Given the description of an element on the screen output the (x, y) to click on. 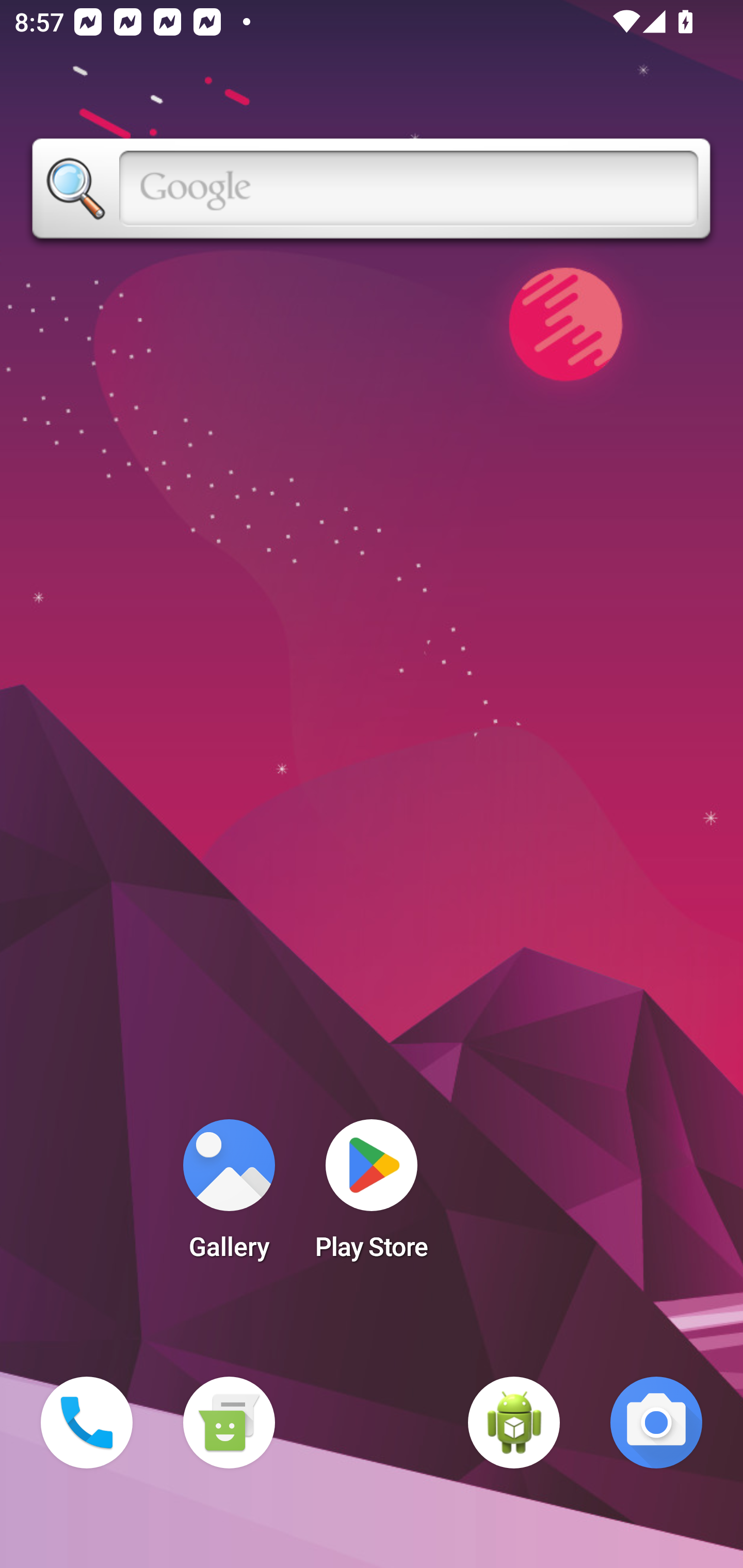
Gallery (228, 1195)
Play Store (371, 1195)
Phone (86, 1422)
Messaging (228, 1422)
WebView Browser Tester (513, 1422)
Camera (656, 1422)
